Given the description of an element on the screen output the (x, y) to click on. 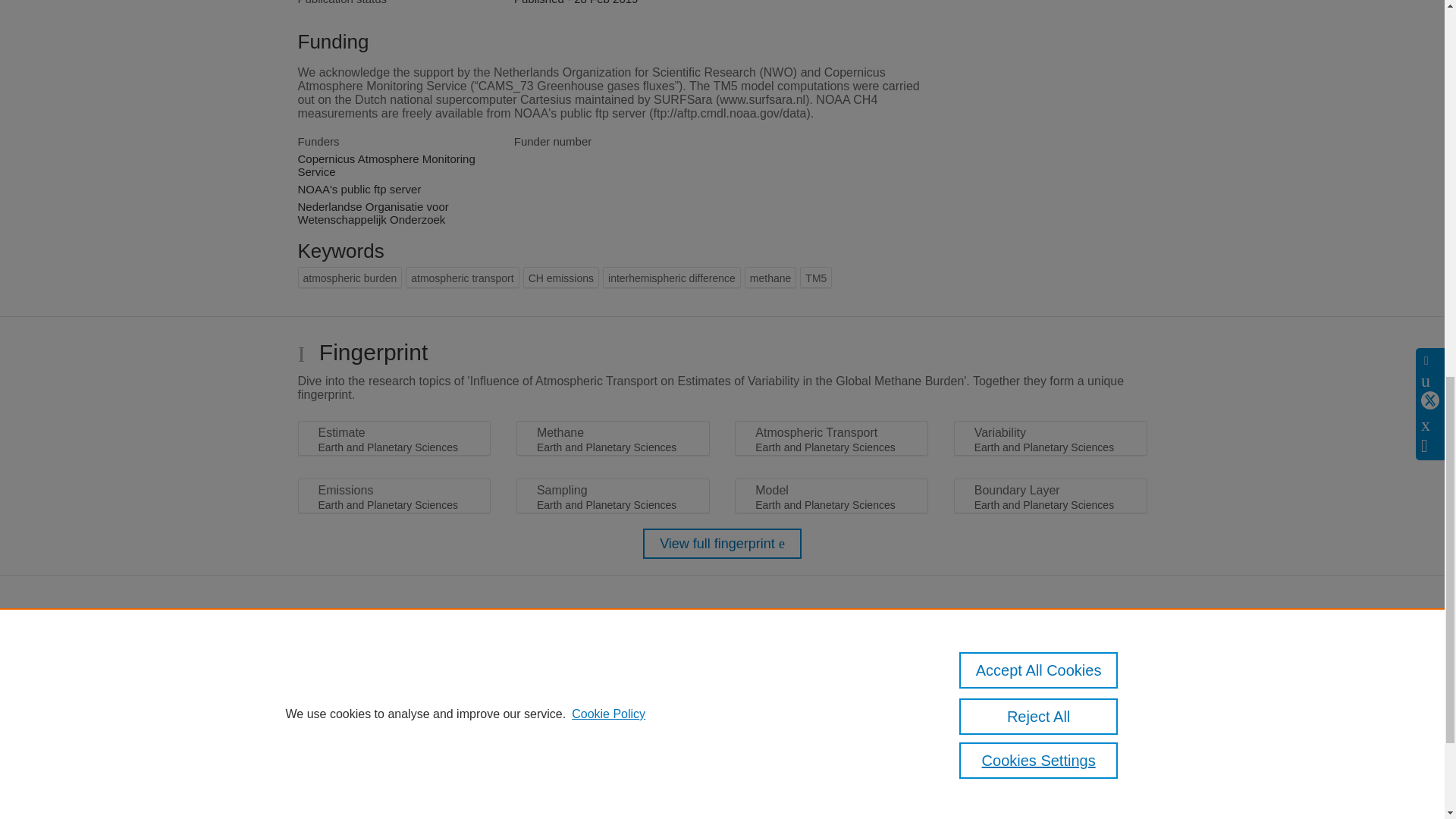
View full fingerprint (722, 543)
